Given the description of an element on the screen output the (x, y) to click on. 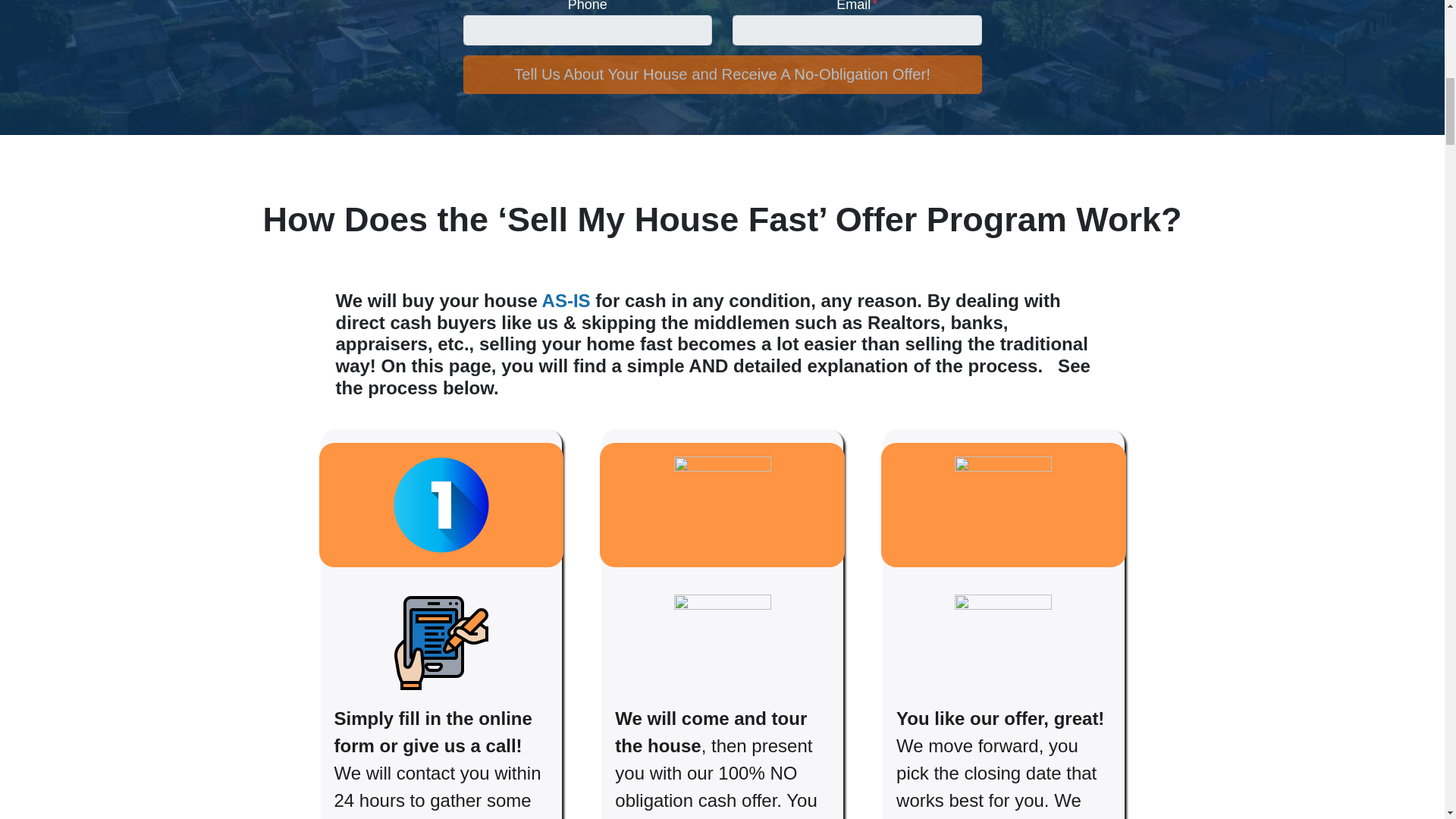
Tell Us About Your House and Receive A No-Obligation Offer! (722, 74)
Tell Us About Your House and Receive A No-Obligation Offer! (722, 74)
AS-IS (566, 300)
